Given the description of an element on the screen output the (x, y) to click on. 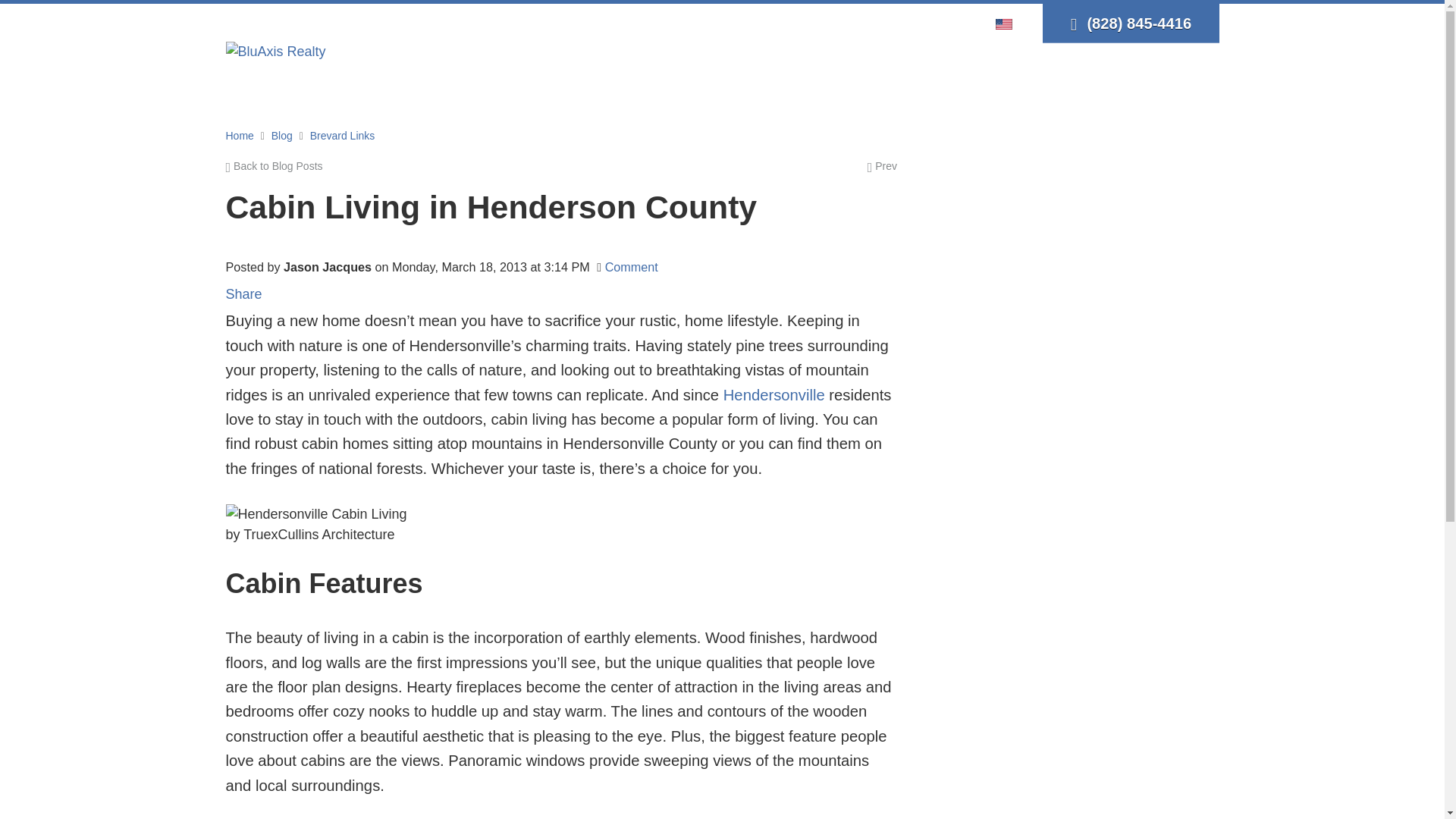
Register (920, 23)
Select Language (1008, 23)
Login (872, 23)
Home Page (275, 50)
Hendersonville NC Real Estate (774, 394)
